Given the description of an element on the screen output the (x, y) to click on. 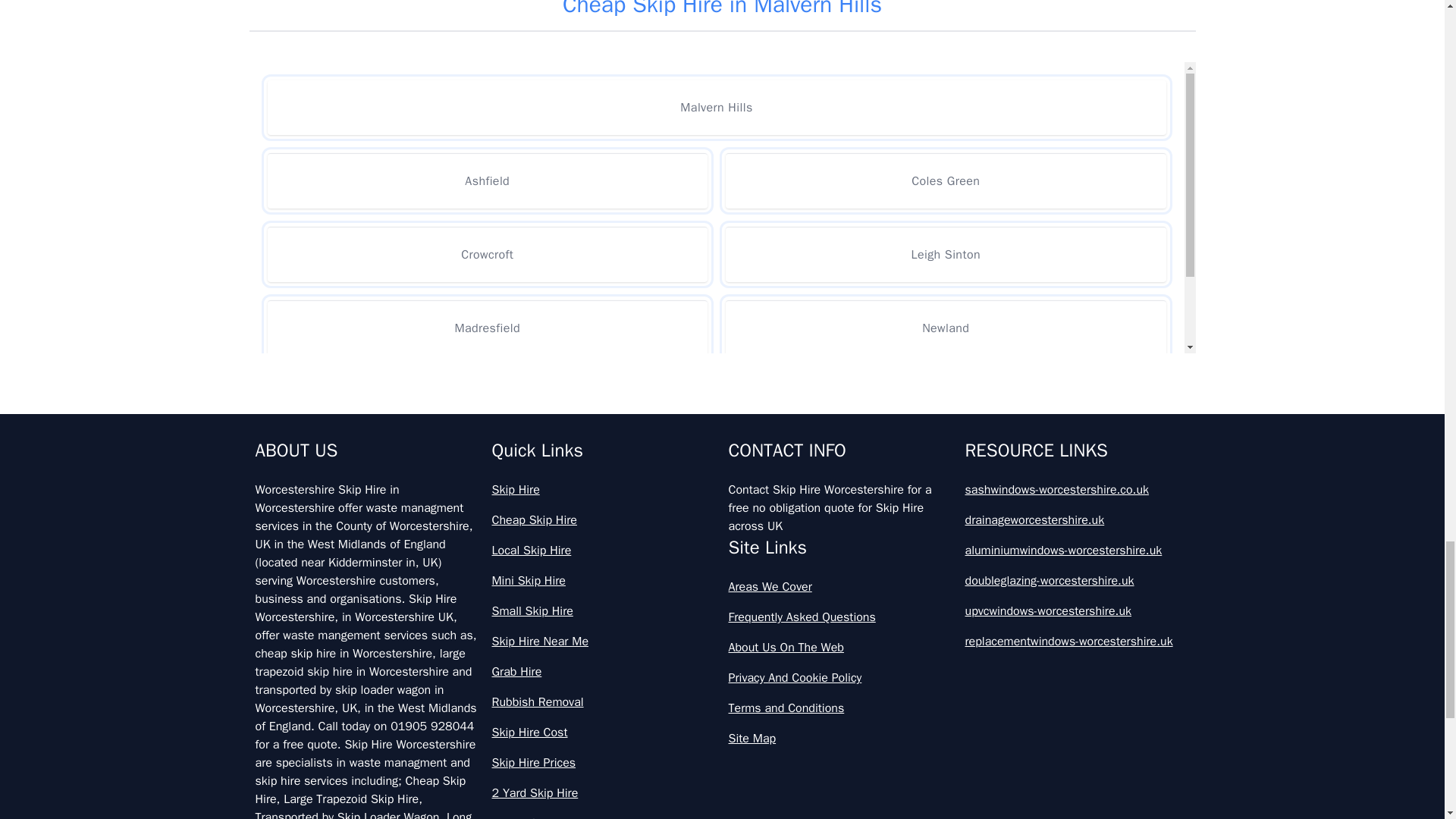
Local Skip Hire (604, 550)
Ashfield (486, 180)
Leigh Sinton (945, 253)
Cheap Skip Hire (604, 520)
Coles Green (945, 180)
doubleglazing-worcestershire.uk (1076, 580)
Madresfield (486, 327)
aluminiumwindows-worcestershire.uk (1076, 550)
Malvern Hills (716, 107)
upvcwindows-worcestershire.uk (1076, 610)
Newland (945, 327)
Site Map (840, 738)
Skip Hire (604, 489)
Crowcroft (486, 253)
Pin's Green (486, 401)
